Given the description of an element on the screen output the (x, y) to click on. 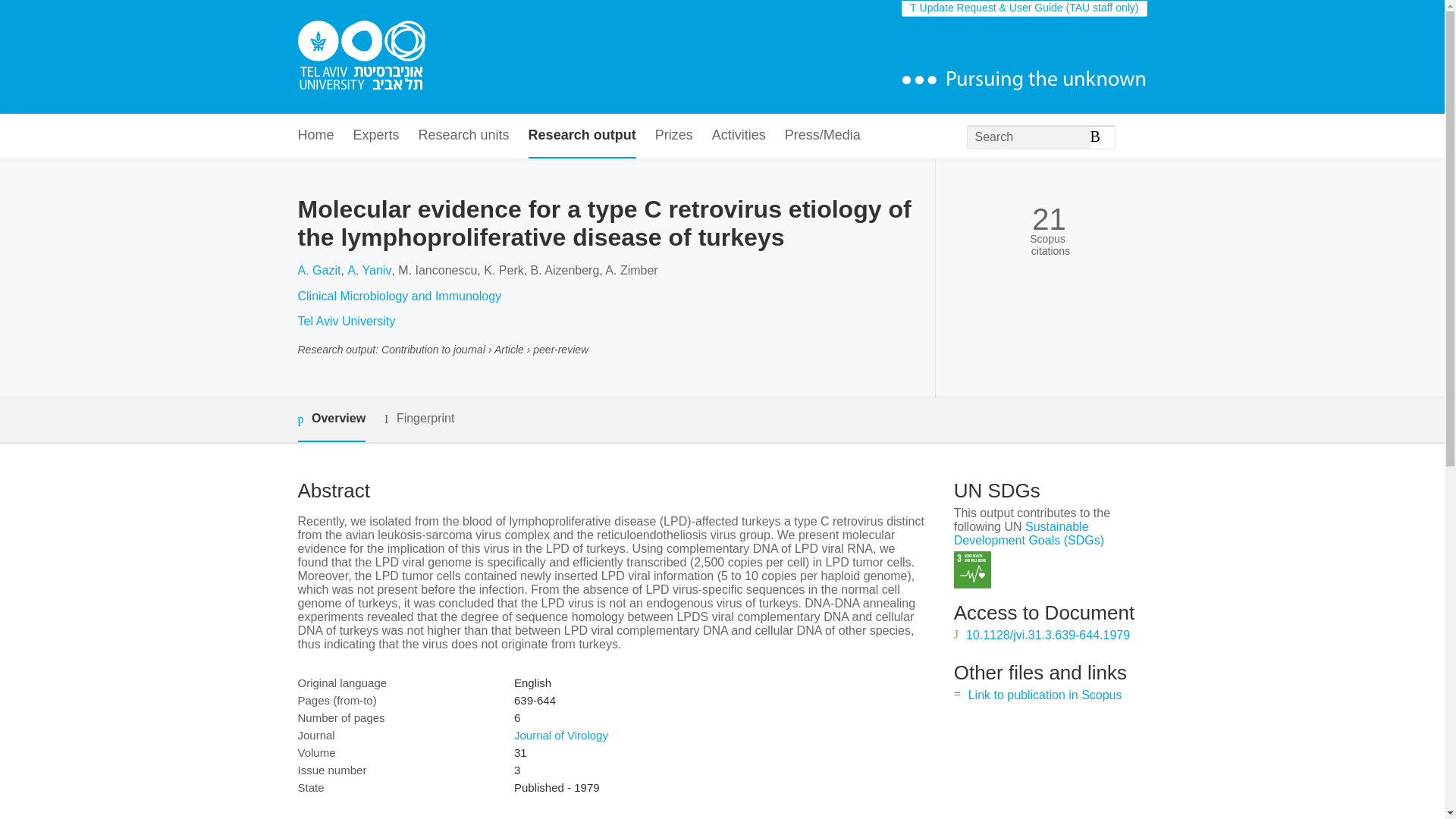
A. Gazit (318, 269)
SDG 3 - Good Health and Well-being (972, 569)
Experts (375, 135)
Fingerprint (419, 418)
Tel Aviv University Home (361, 56)
Research units (464, 135)
Overview (331, 419)
Clinical Microbiology and Immunology (398, 295)
A. Yaniv (369, 269)
Link to publication in Scopus (1045, 694)
Research output (582, 135)
Activities (738, 135)
Journal of Virology (560, 735)
Tel Aviv University (345, 320)
